Given the description of an element on the screen output the (x, y) to click on. 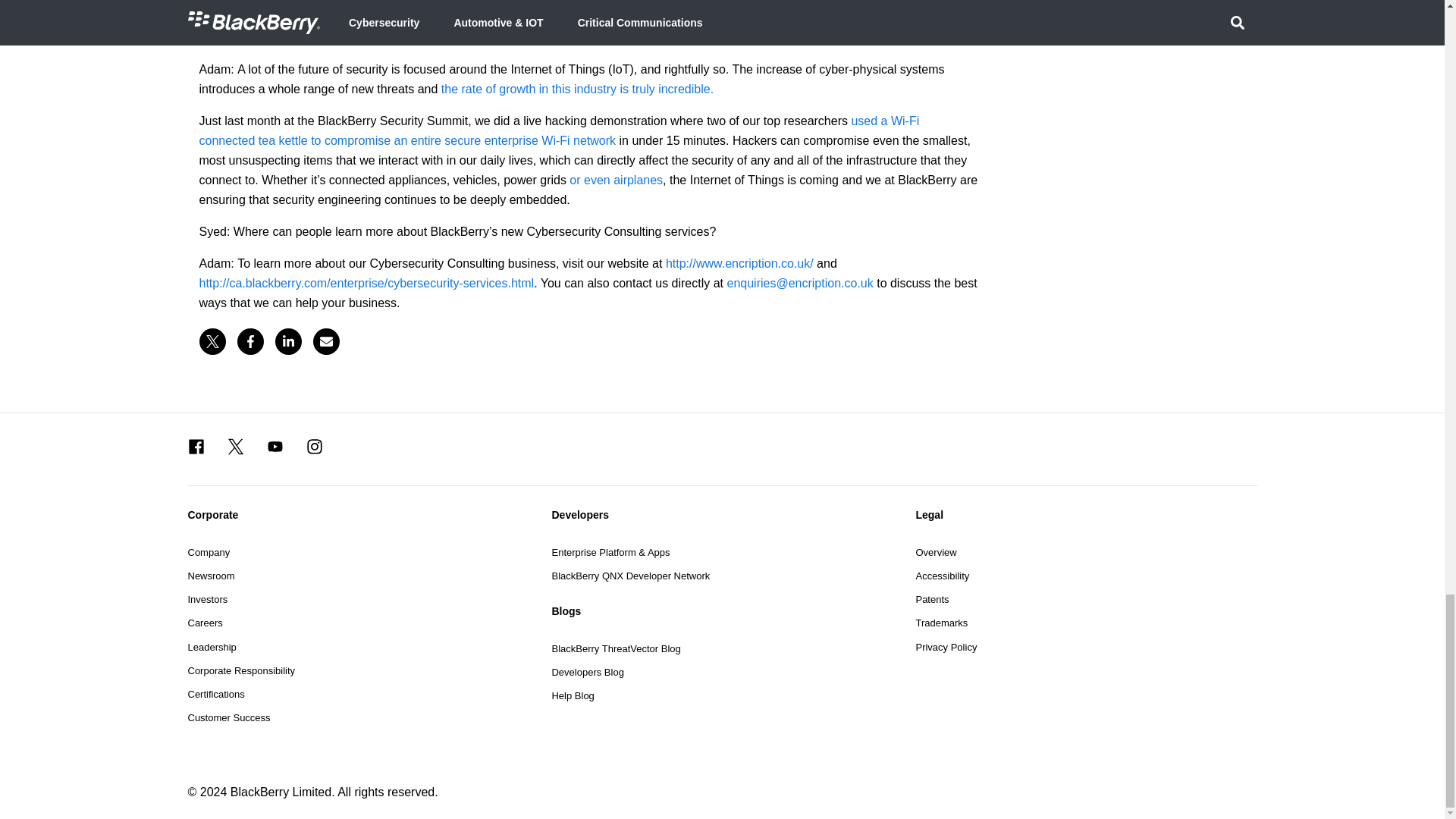
Share on Facebook (249, 341)
Email (326, 341)
Email (326, 341)
Share on LinkedIn (288, 341)
Share on Facebook (249, 341)
Corporate (358, 514)
the rate of growth in this industry is truly incredible. (577, 88)
Share on LinkedIn (288, 341)
Share on X (211, 341)
or even airplanes (615, 179)
Share on X (211, 341)
